Given the description of an element on the screen output the (x, y) to click on. 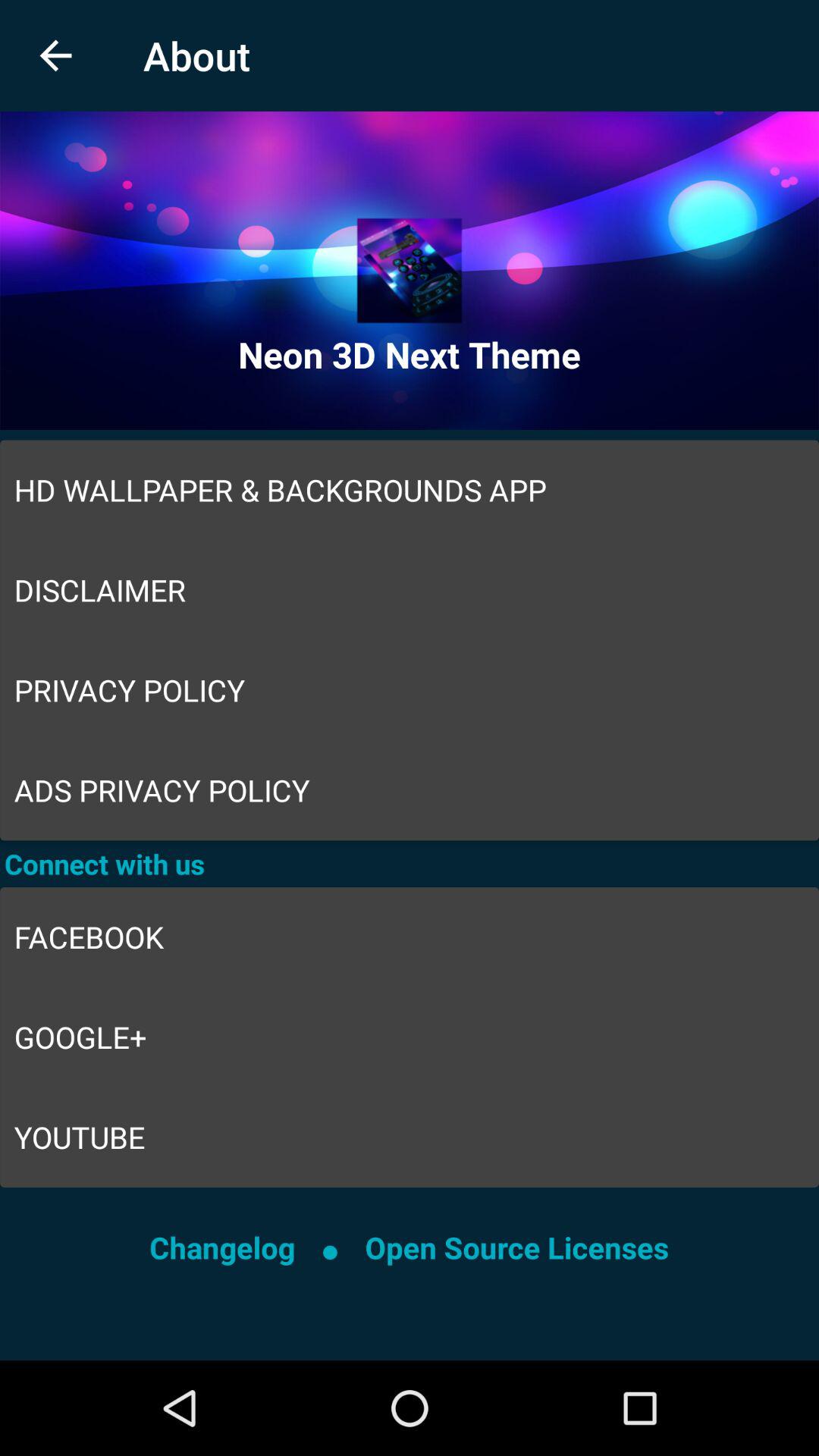
tap the icon above the disclaimer icon (409, 490)
